Given the description of an element on the screen output the (x, y) to click on. 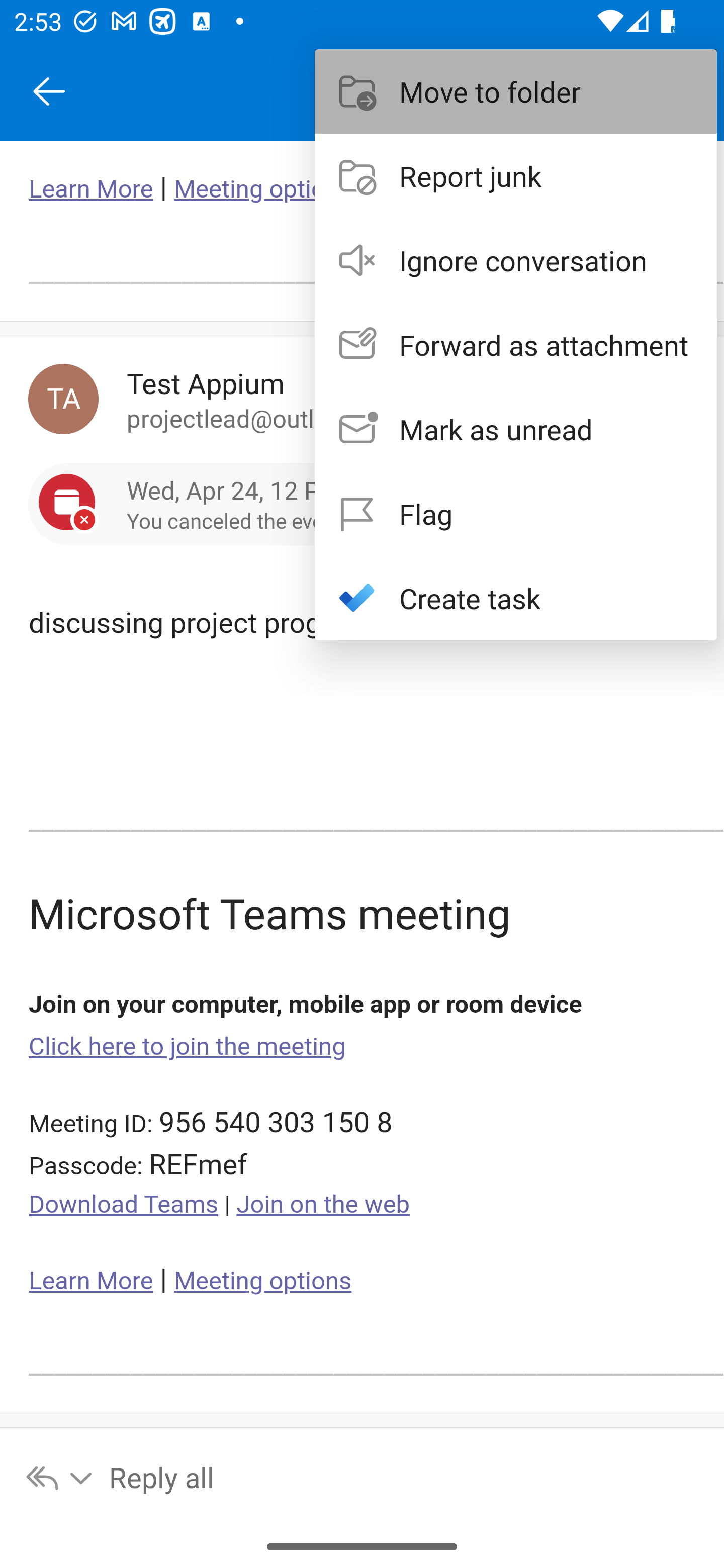
Move to folder (515, 90)
Report junk (515, 175)
Ignore conversation (515, 259)
Forward as attachment (515, 344)
Mark as unread (515, 429)
Flag (515, 513)
Create task (515, 597)
